Given the description of an element on the screen output the (x, y) to click on. 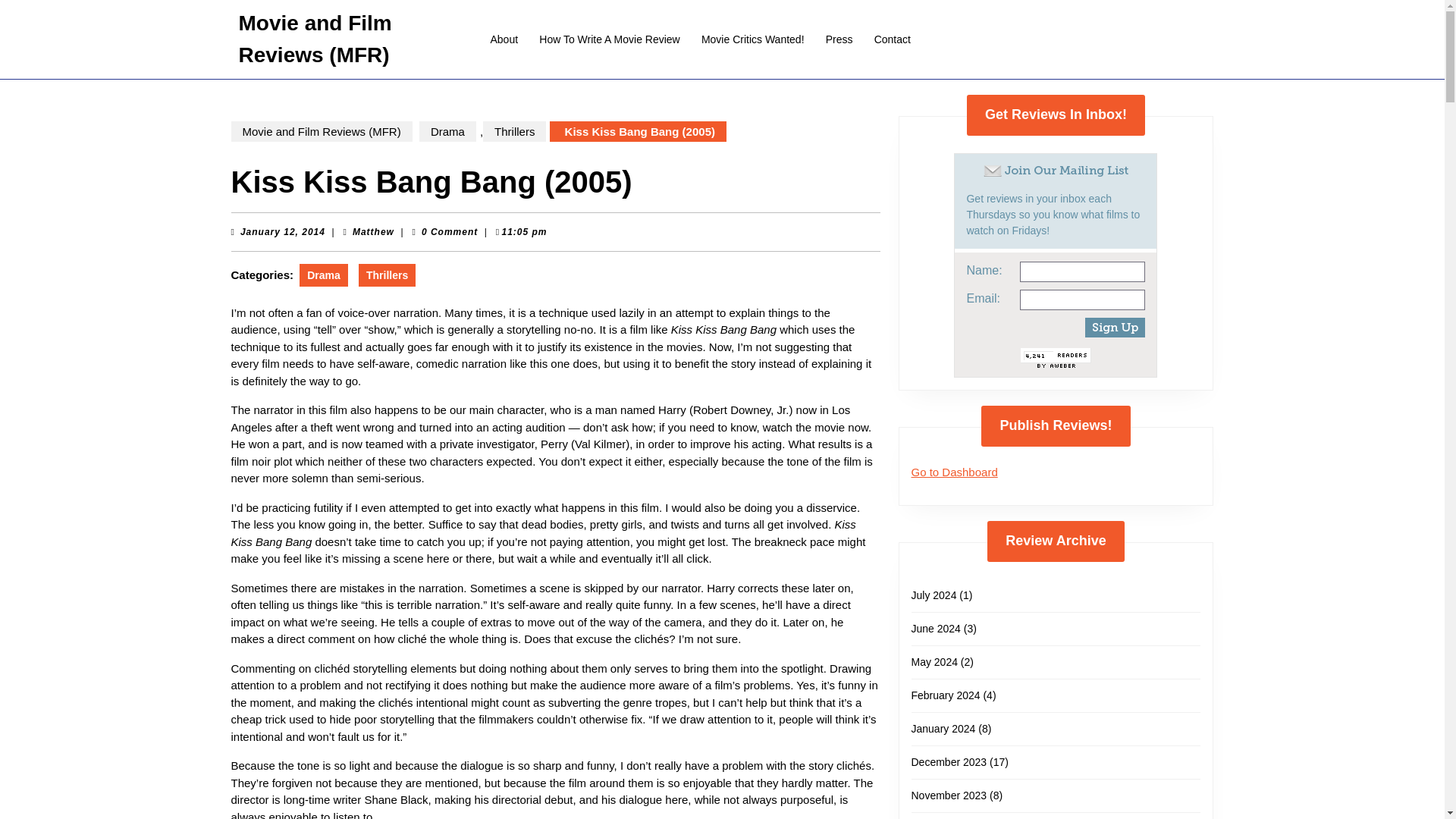
Thrillers (514, 131)
January 2024 (943, 728)
Contact (892, 39)
July 2024 (933, 594)
Press (838, 39)
Movie Critics Wanted! (282, 231)
May 2024 (753, 39)
Go to Dashboard (934, 662)
November 2023 (954, 472)
June 2024 (949, 795)
Thrillers (935, 628)
Drama (386, 274)
Drama (323, 274)
February 2024 (447, 131)
